Given the description of an element on the screen output the (x, y) to click on. 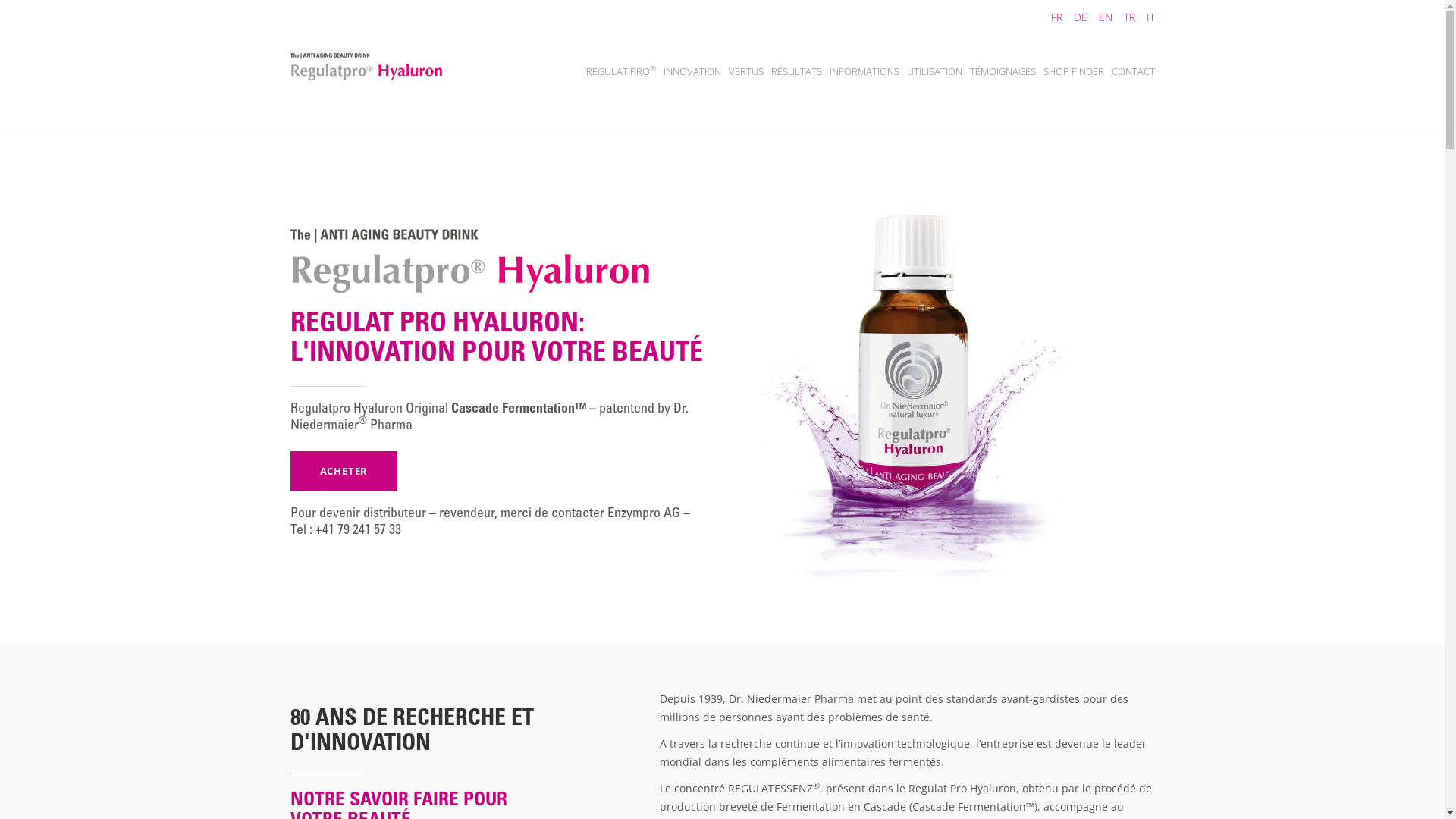
FR Element type: text (1049, 16)
VERTUS Element type: text (745, 71)
ACHETER Element type: text (343, 471)
TR Element type: text (1122, 16)
SHOP FINDER Element type: text (1073, 71)
INFORMATIONS Element type: text (864, 71)
CONTACT Element type: text (1132, 71)
DE Element type: text (1073, 16)
IT Element type: text (1144, 16)
EN Element type: text (1099, 16)
INNOVATION Element type: text (691, 71)
UTILISATION Element type: text (934, 71)
